Given the description of an element on the screen output the (x, y) to click on. 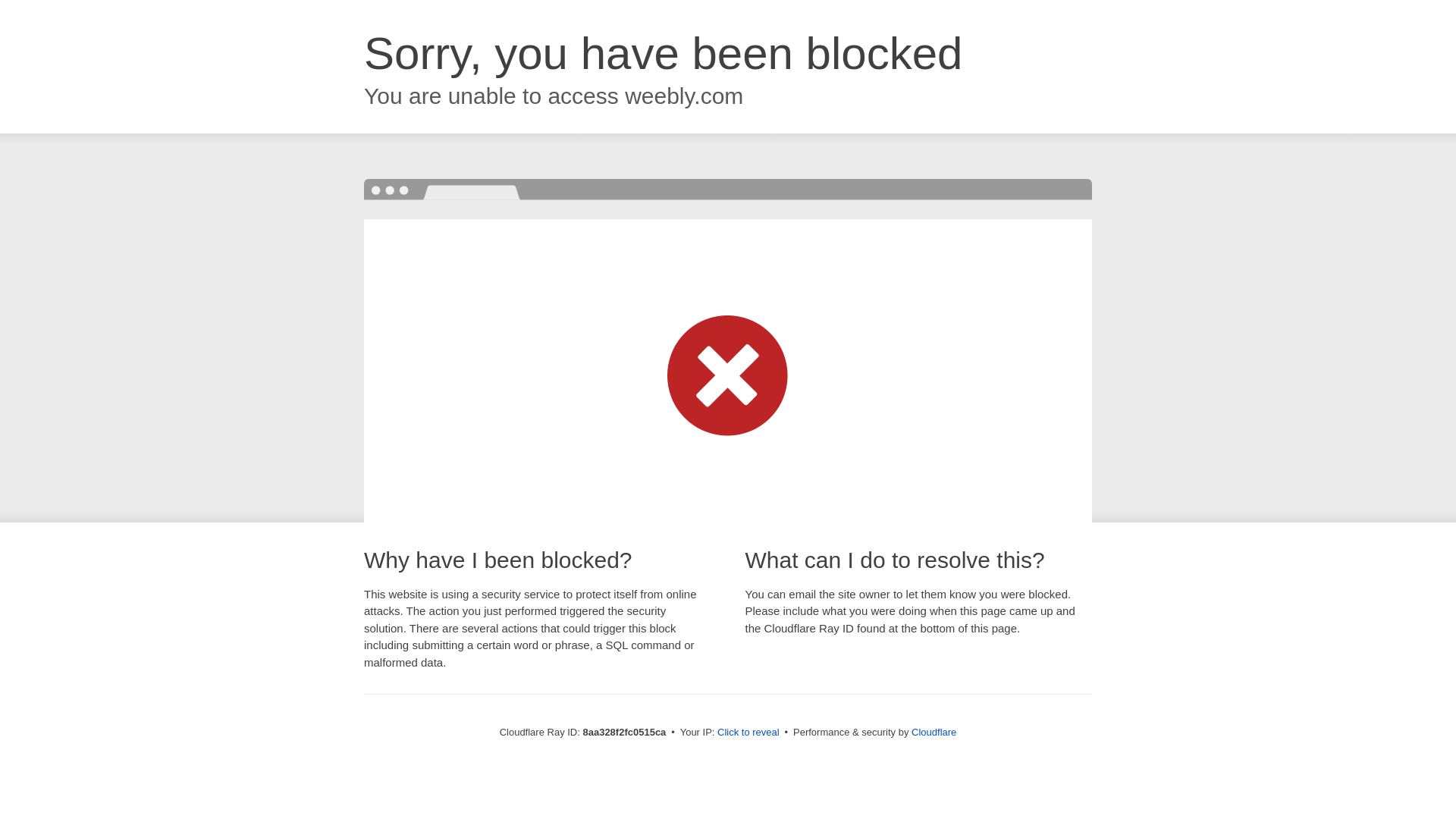
Click to reveal (747, 732)
Cloudflare (933, 731)
